Given the description of an element on the screen output the (x, y) to click on. 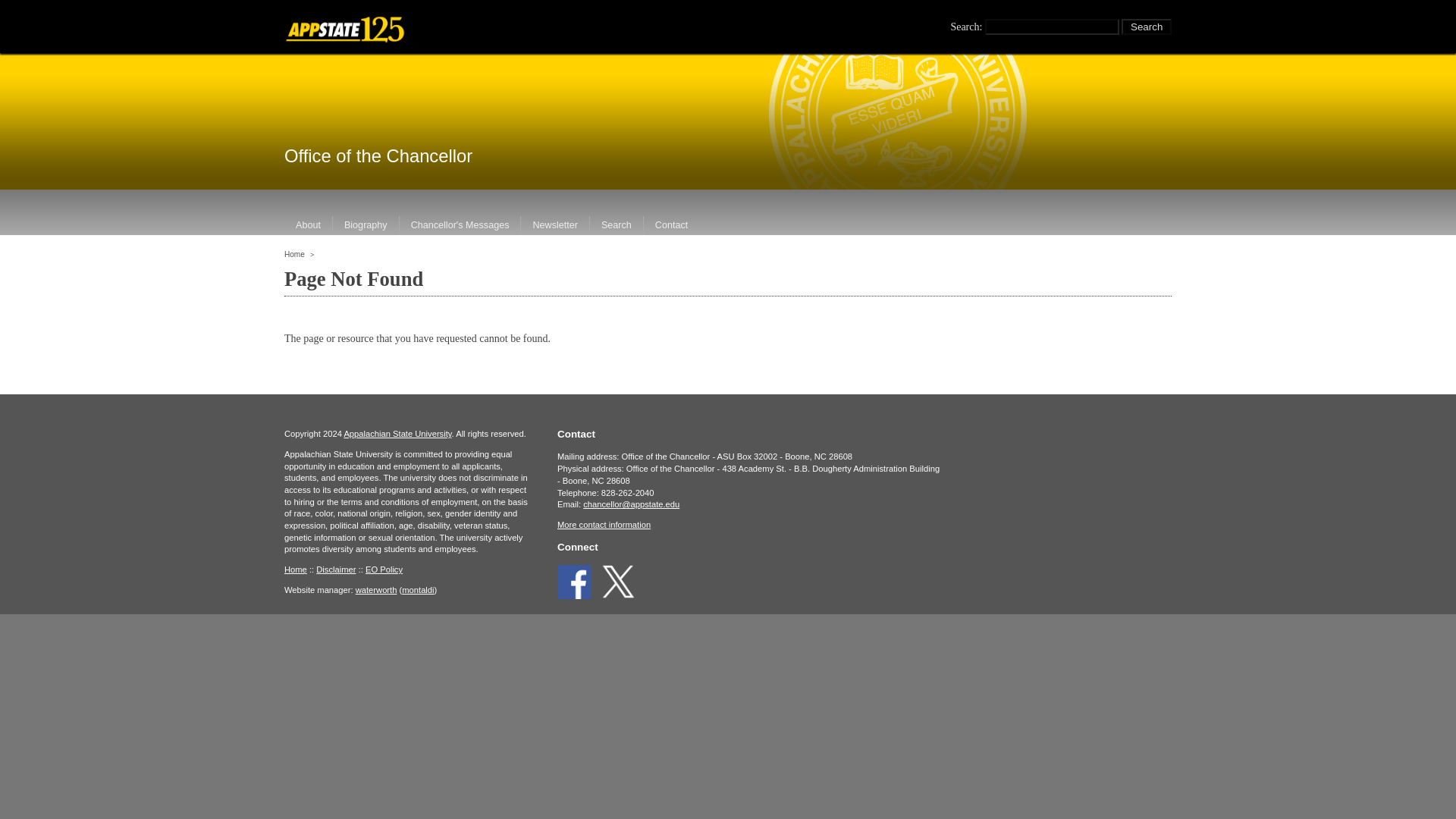
Biography (365, 225)
 Search  (1146, 26)
Office of the Chancellor (377, 155)
Chancellor's Messages (459, 225)
Search (616, 225)
Contact (671, 225)
 Search  (1146, 26)
Home (293, 254)
Newsletter (555, 225)
